Given the description of an element on the screen output the (x, y) to click on. 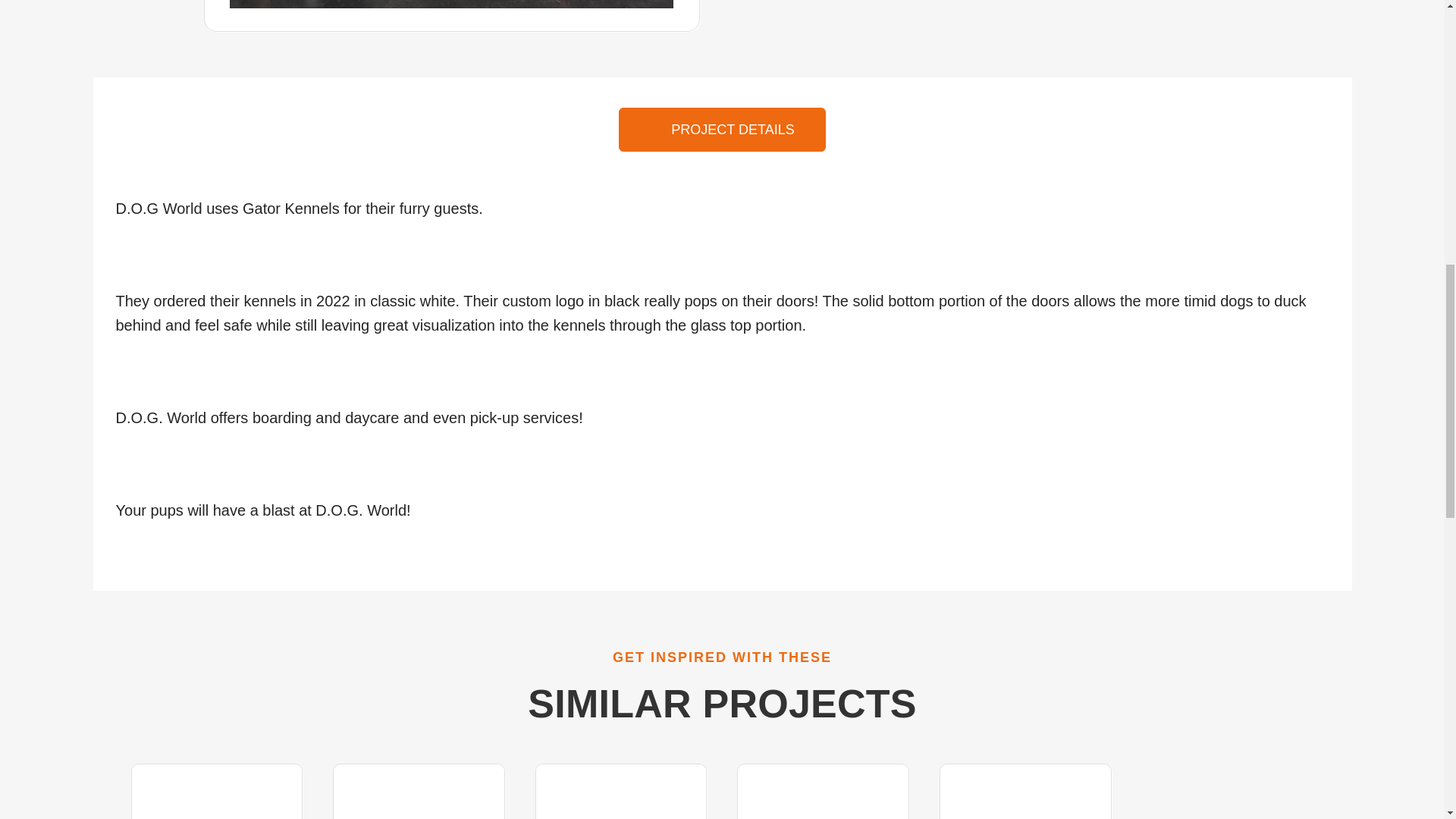
More Than Pets Custom Gator Kennels Gates in Tan (418, 804)
D.O.G. World Custom Gator Kennels in White (452, 4)
